Given the description of an element on the screen output the (x, y) to click on. 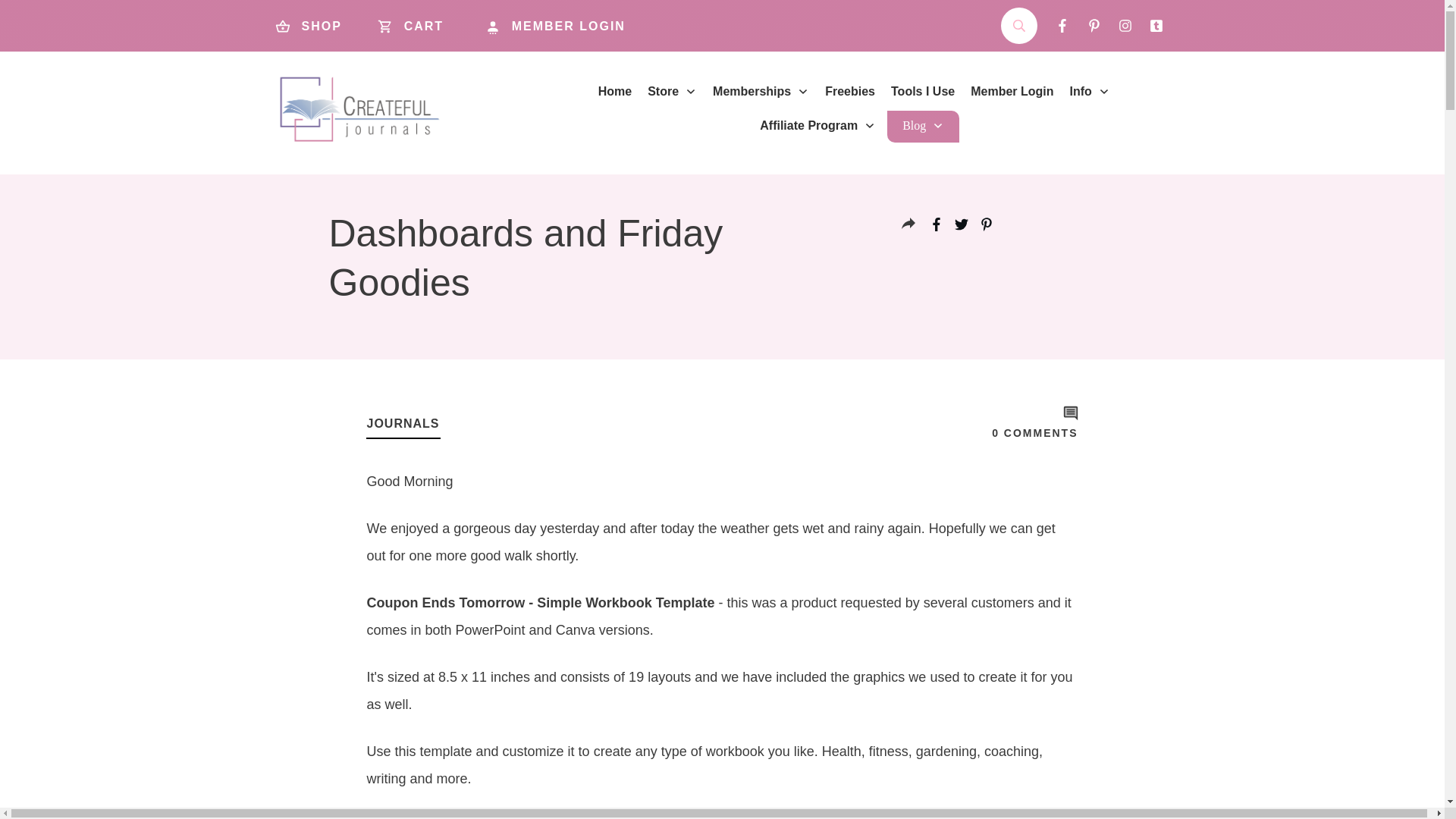
Info (1089, 91)
Memberships (761, 91)
Blog (922, 125)
SHOP (312, 26)
Home (614, 91)
Store (672, 91)
Journals (402, 422)
Dashboards and Friday Goodies (526, 257)
JOURNALS (402, 422)
Tools I Use (923, 91)
